Given the description of an element on the screen output the (x, y) to click on. 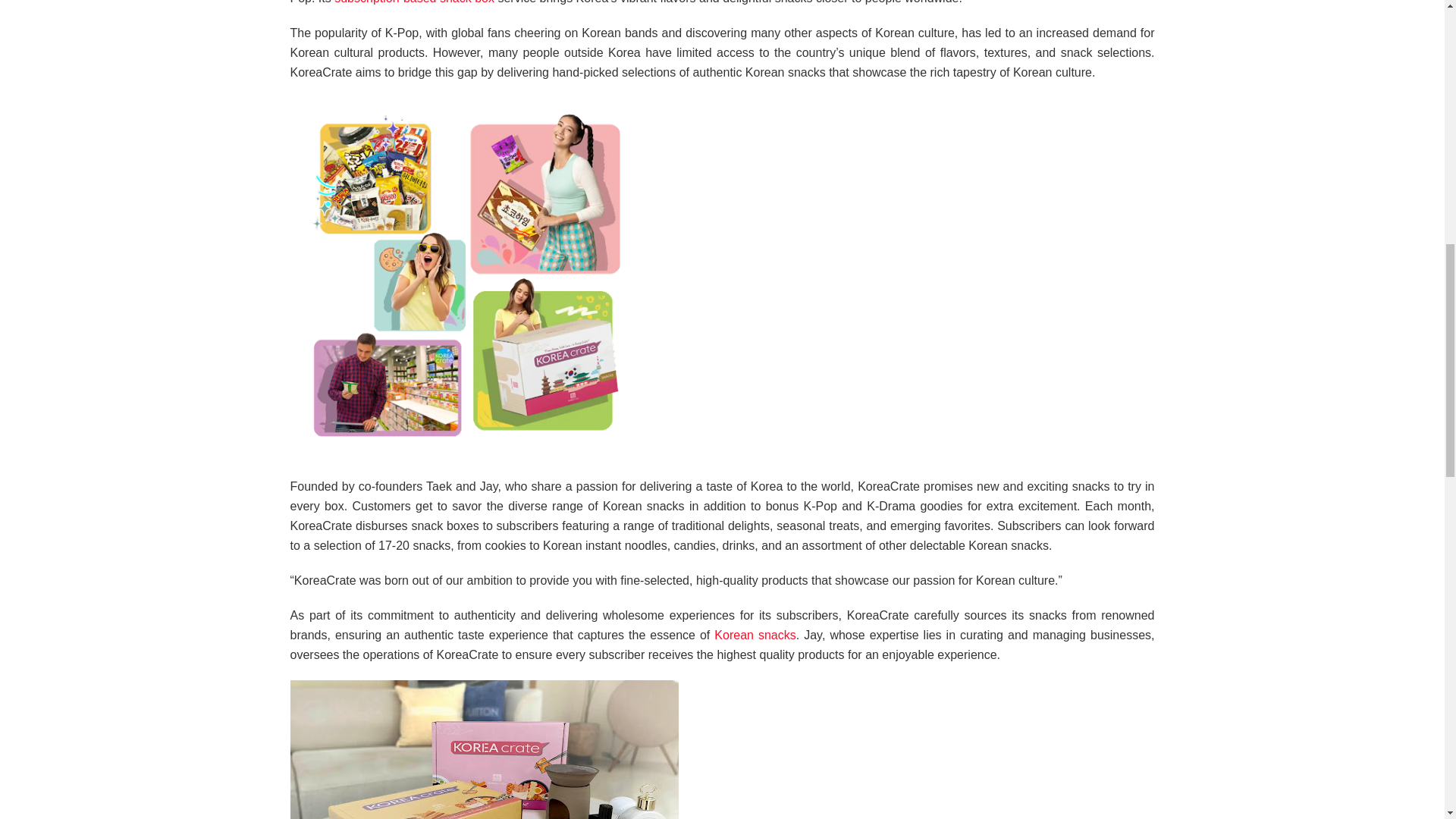
Korean snacks (754, 634)
subscription-based snack box (414, 2)
